Given the description of an element on the screen output the (x, y) to click on. 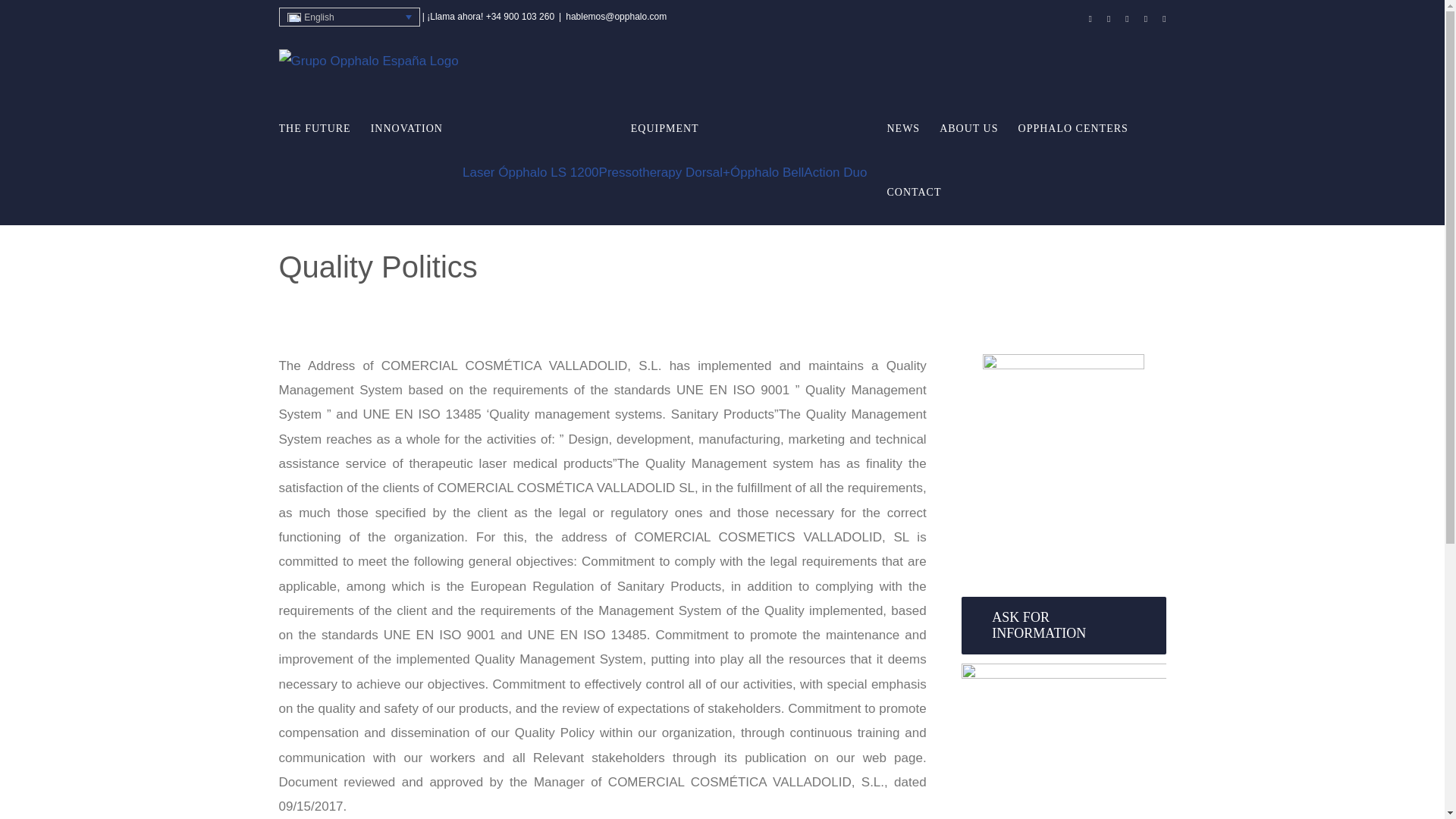
OPPHALO CENTERS (1072, 128)
English (349, 16)
THE FUTURE (314, 128)
EQUIPMENT (665, 128)
ASK FOR INFORMATION (1063, 625)
ABOUT US (968, 128)
INNOVATION (406, 128)
